Given the description of an element on the screen output the (x, y) to click on. 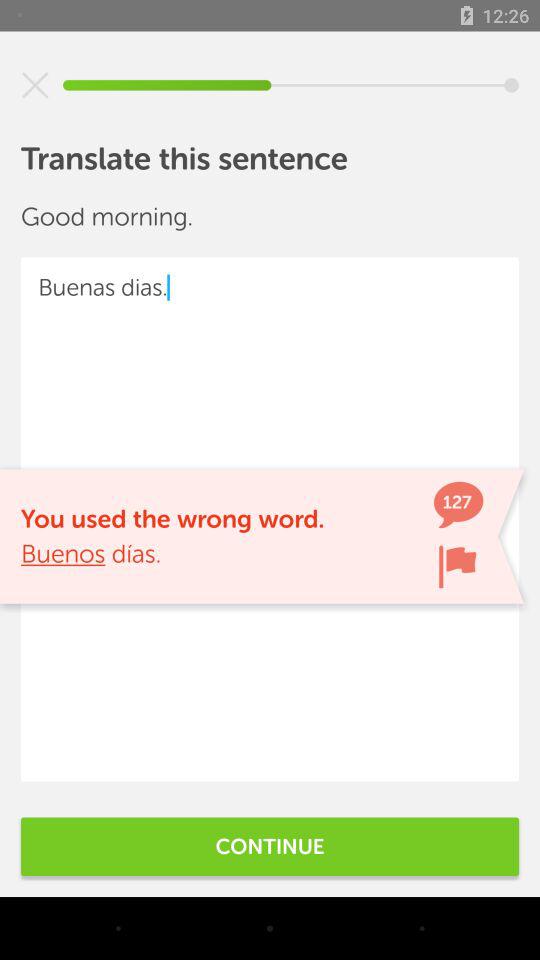
flag (457, 566)
